Given the description of an element on the screen output the (x, y) to click on. 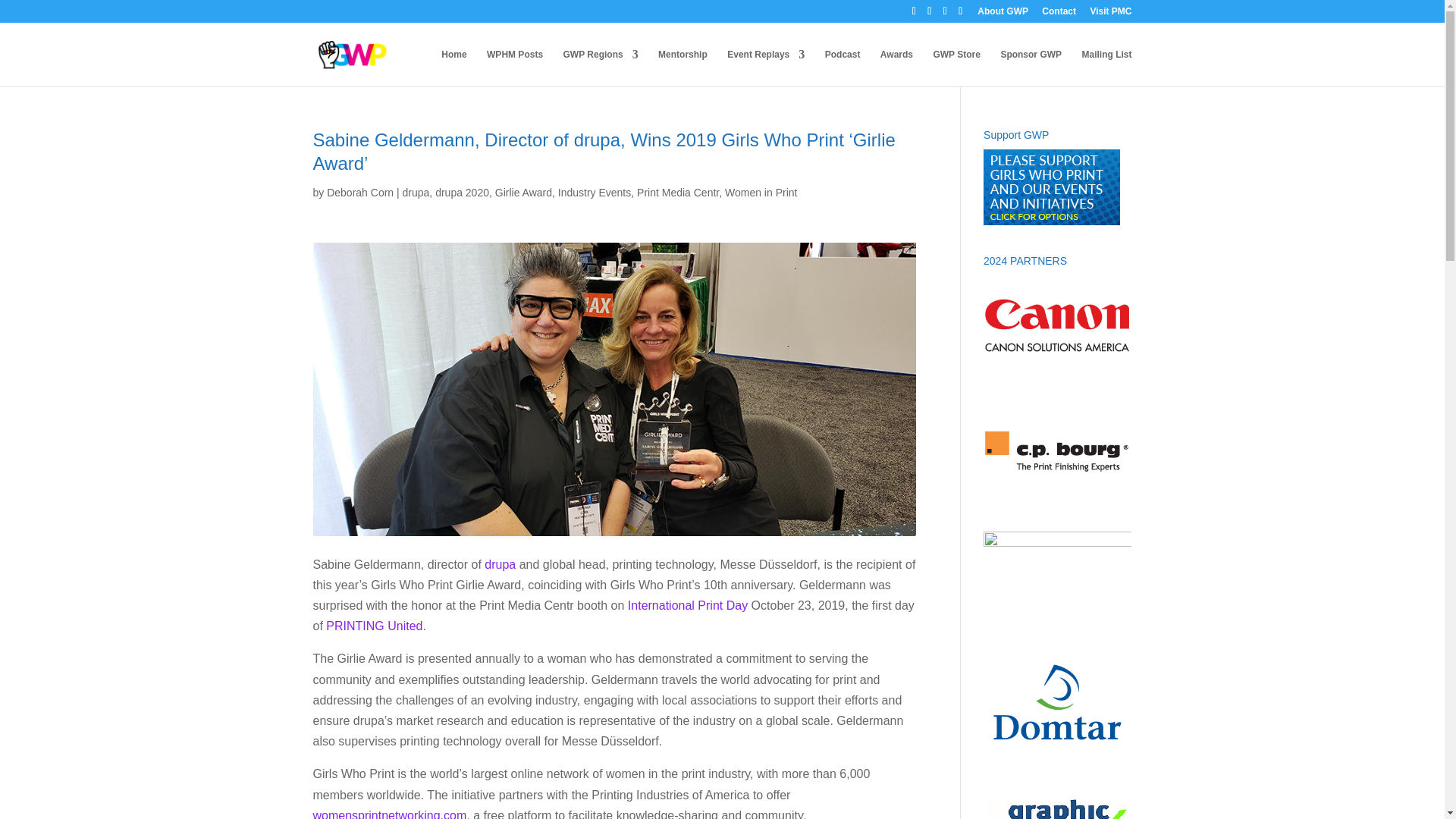
Home (453, 67)
Visit PMC (1110, 14)
Print Media Centr (678, 192)
Mailing List (1106, 67)
Posts by Deborah Corn (359, 192)
About GWP (1001, 14)
International Print Day (687, 604)
Podcast (842, 67)
WPHM Posts (514, 67)
Industry Events (594, 192)
Women in Print (760, 192)
Girlie Award (523, 192)
Deborah Corn (359, 192)
Support GWP (1051, 220)
drupa (416, 192)
